Given the description of an element on the screen output the (x, y) to click on. 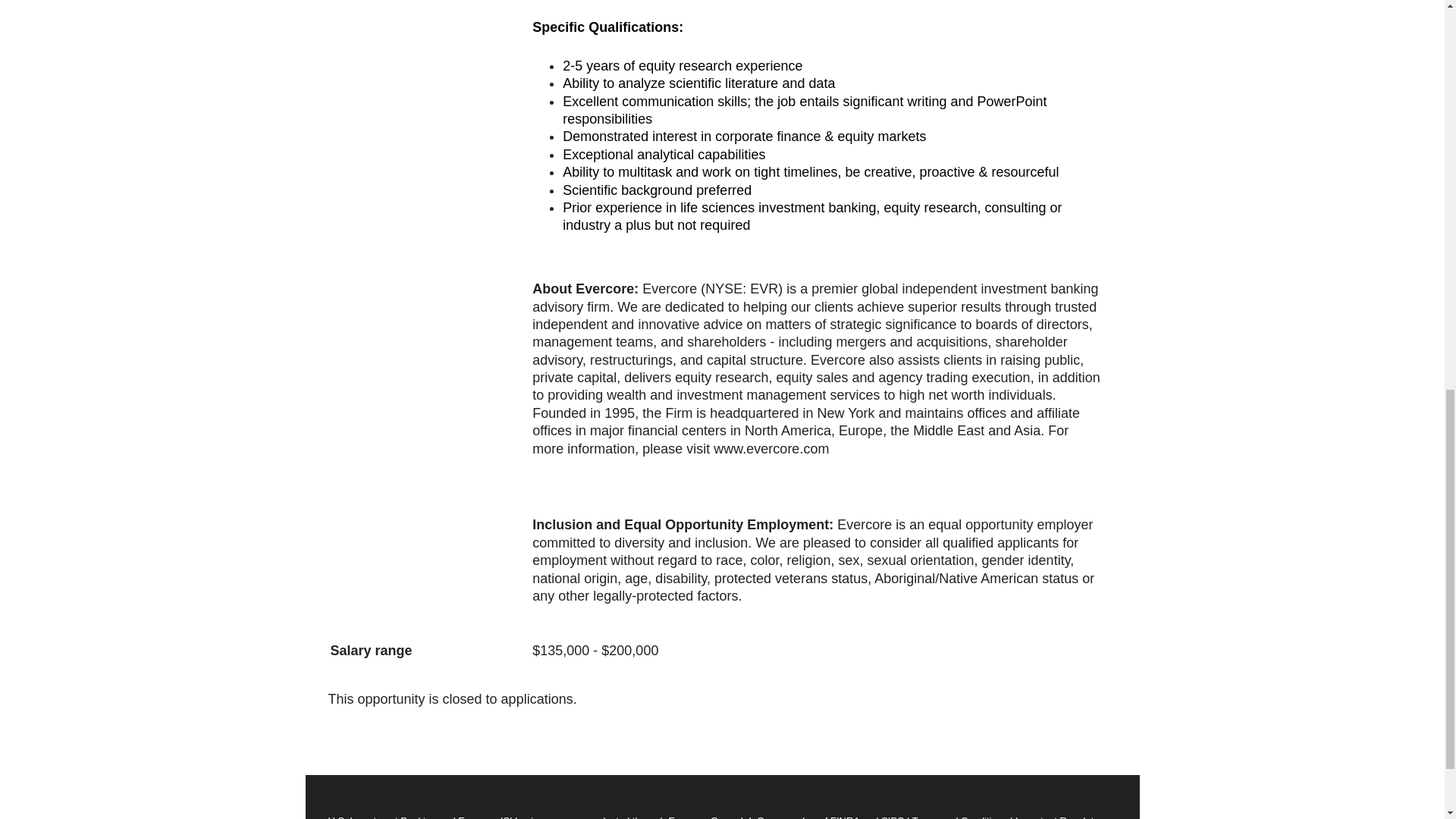
FINRA (844, 816)
SIPC (892, 816)
Terms and Conditions (959, 816)
